Given the description of an element on the screen output the (x, y) to click on. 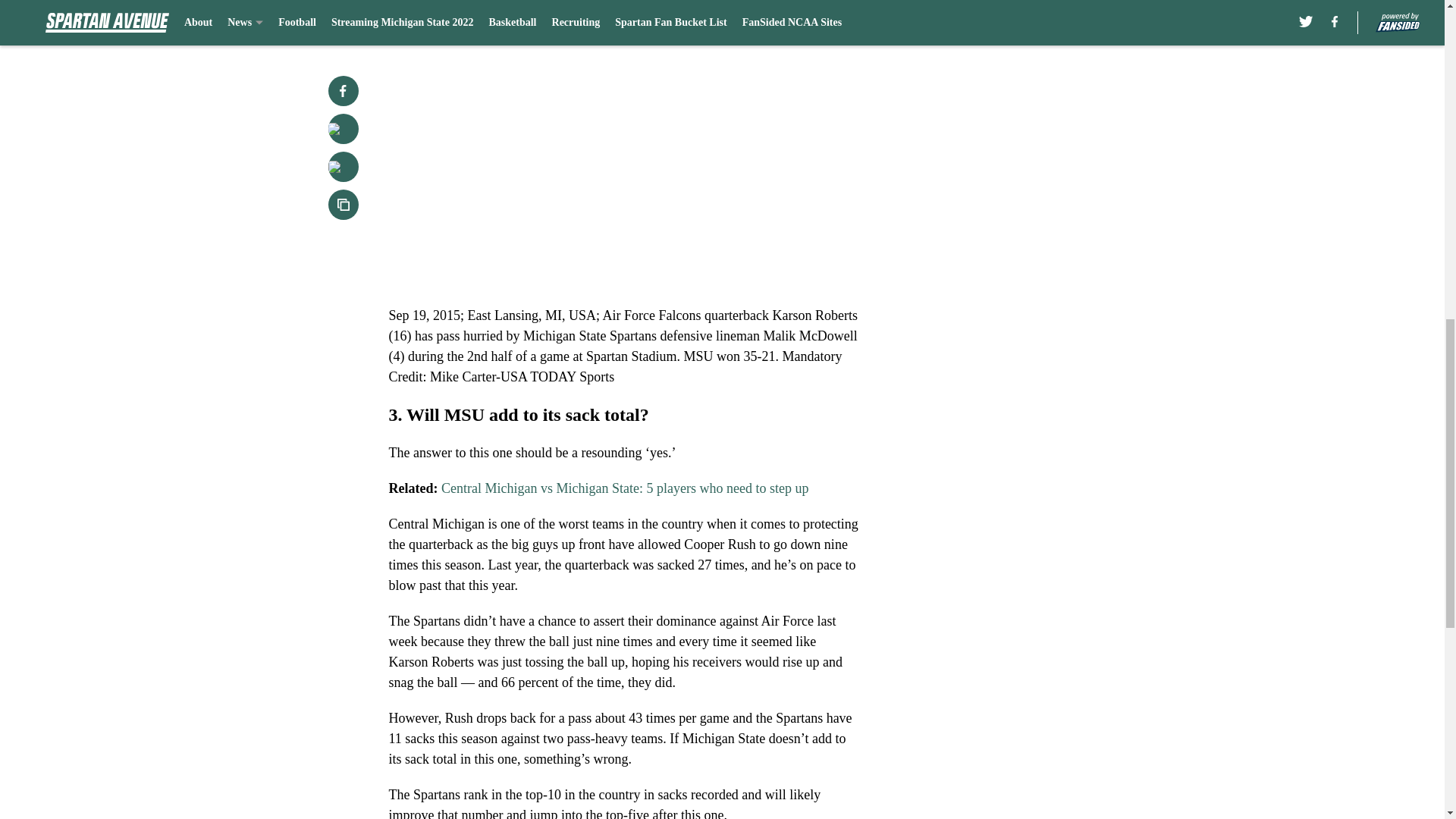
Next (813, 5)
Prev (433, 5)
